Given the description of an element on the screen output the (x, y) to click on. 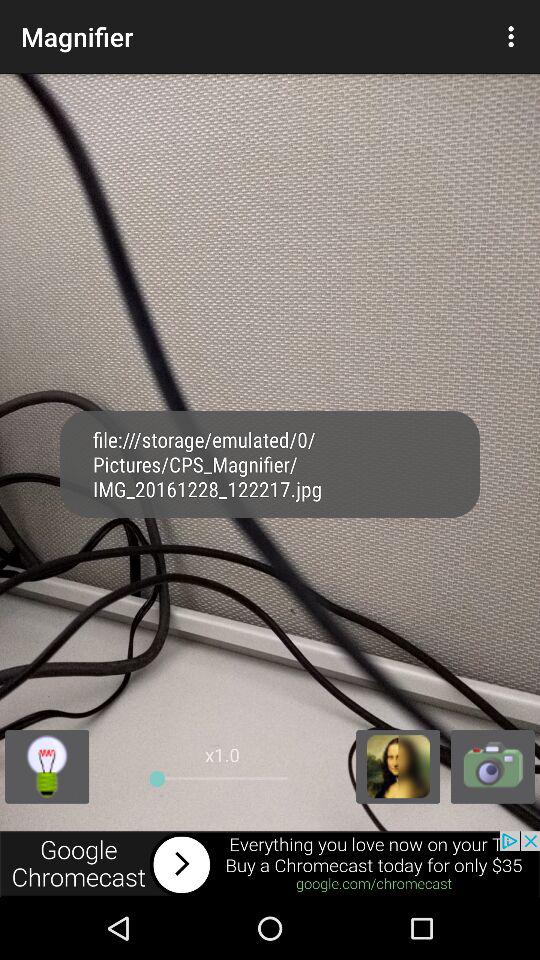
galery (398, 766)
